Given the description of an element on the screen output the (x, y) to click on. 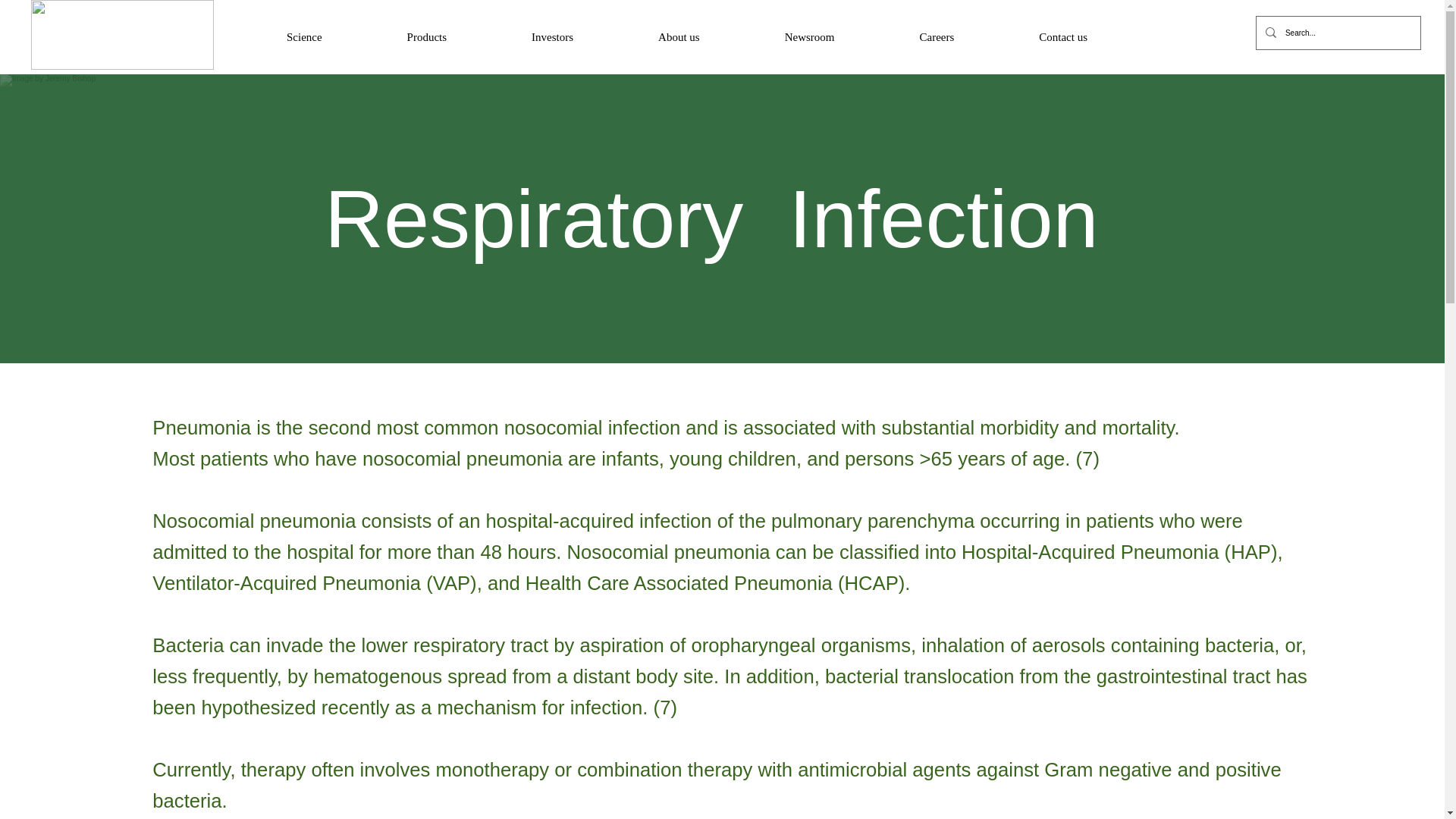
About us (678, 37)
Newsroom (810, 37)
Contact us (1062, 37)
Products (426, 37)
Careers (936, 37)
Investors (552, 37)
Science (303, 37)
